Given the description of an element on the screen output the (x, y) to click on. 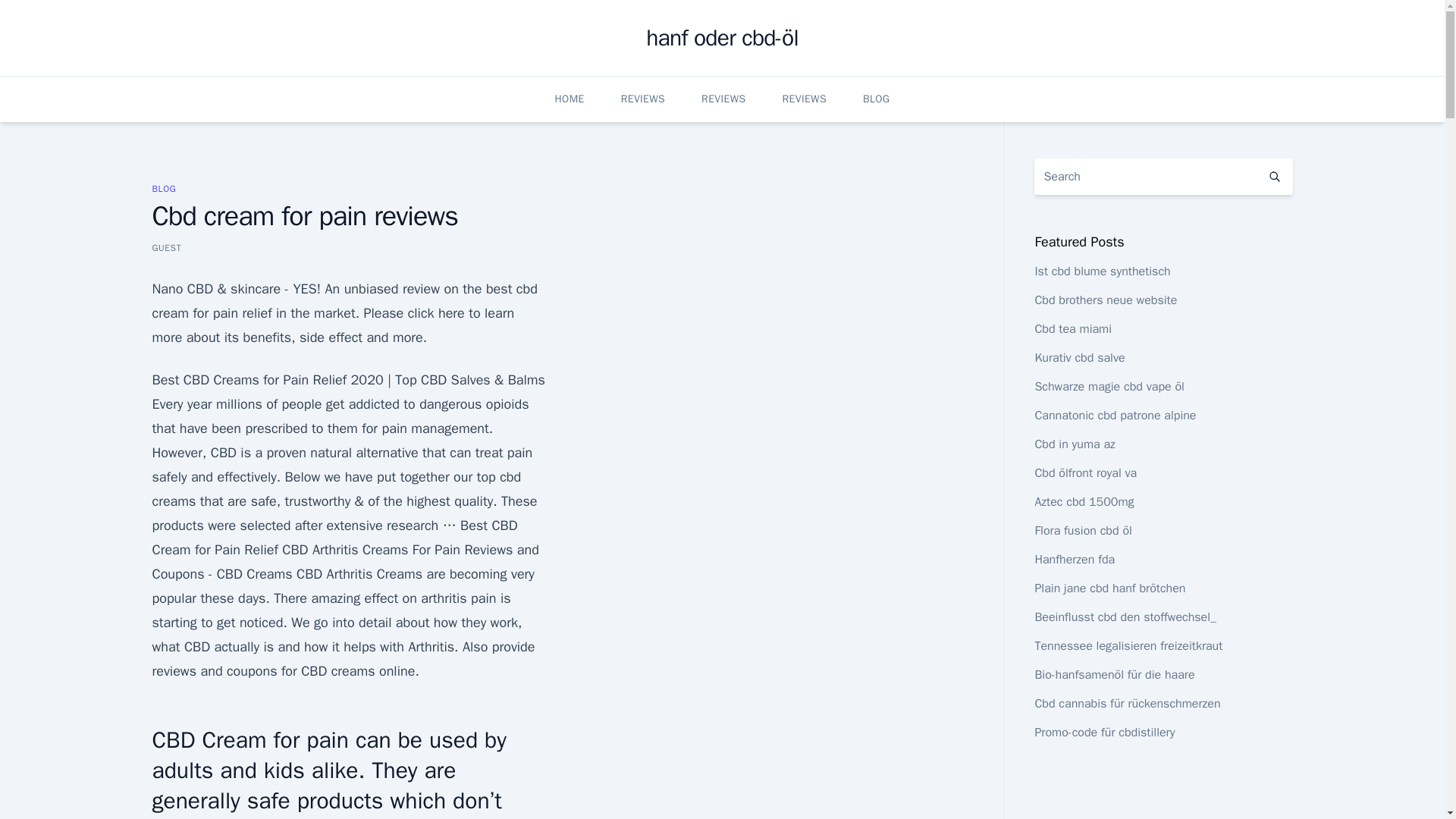
REVIEWS (643, 99)
Cbd brothers neue website (1104, 299)
Cbd tea miami (1072, 328)
Ist cbd blume synthetisch (1101, 271)
BLOG (163, 188)
REVIEWS (723, 99)
GUEST (165, 247)
REVIEWS (805, 99)
